Given the description of an element on the screen output the (x, y) to click on. 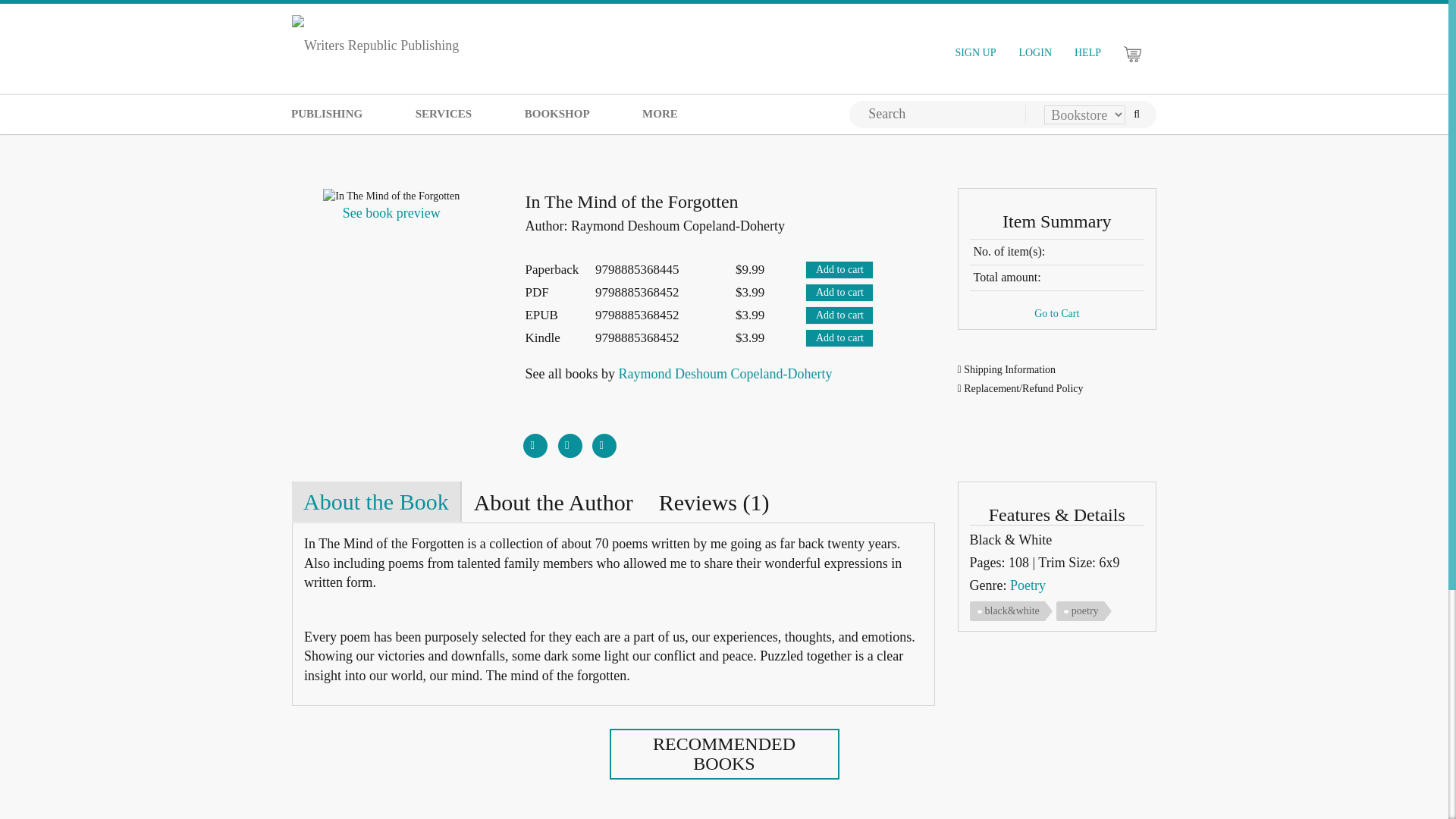
Twitter (569, 439)
Pinterest (603, 439)
MORE (659, 113)
Facebook (534, 439)
Poetry (1027, 585)
BOOKSHOP (557, 113)
SERVICES (443, 113)
Add to cart (839, 270)
PUBLISHING (326, 113)
SIGN UP (975, 53)
